Given the description of an element on the screen output the (x, y) to click on. 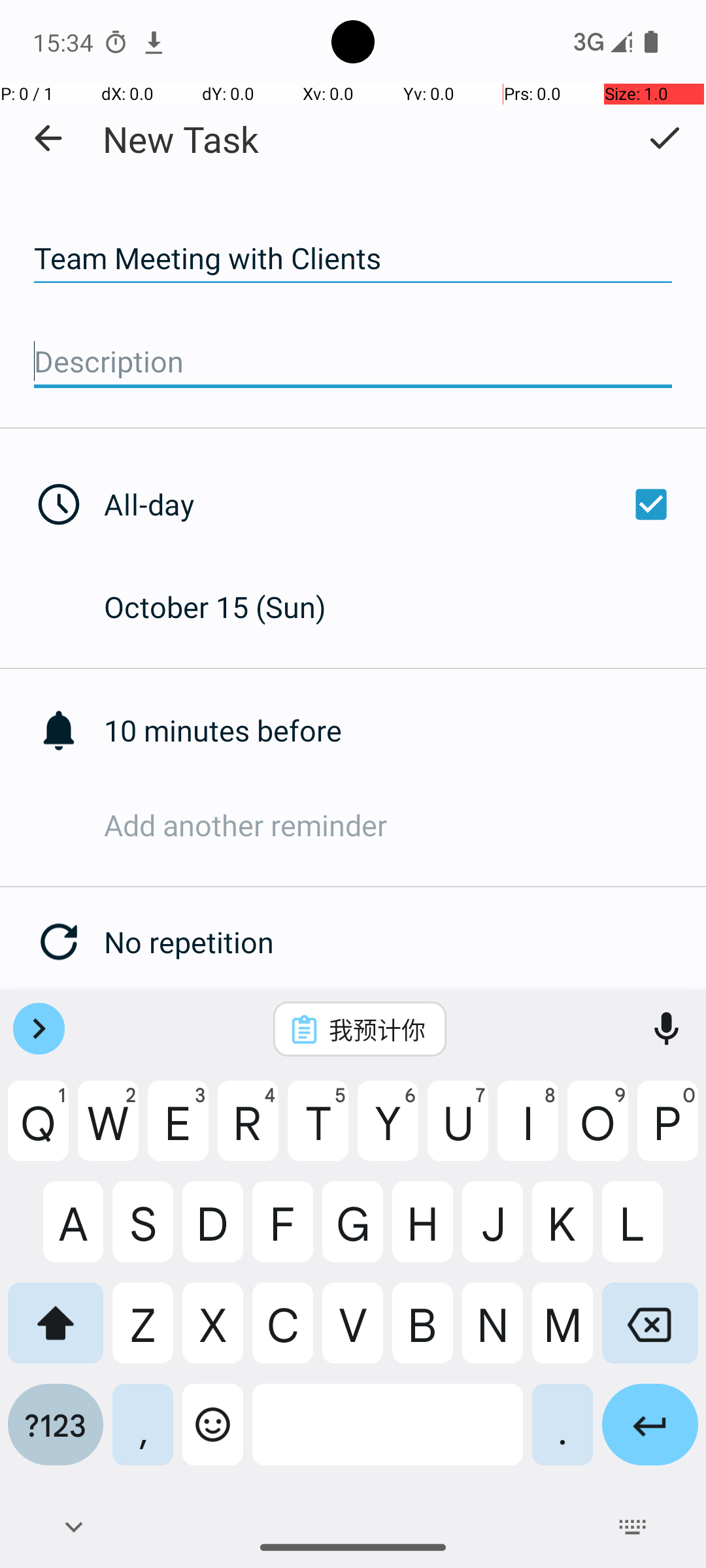
Team Meeting with Clients Element type: android.widget.EditText (352, 258)
我预计你 Element type: android.widget.TextView (376, 1028)
